Given the description of an element on the screen output the (x, y) to click on. 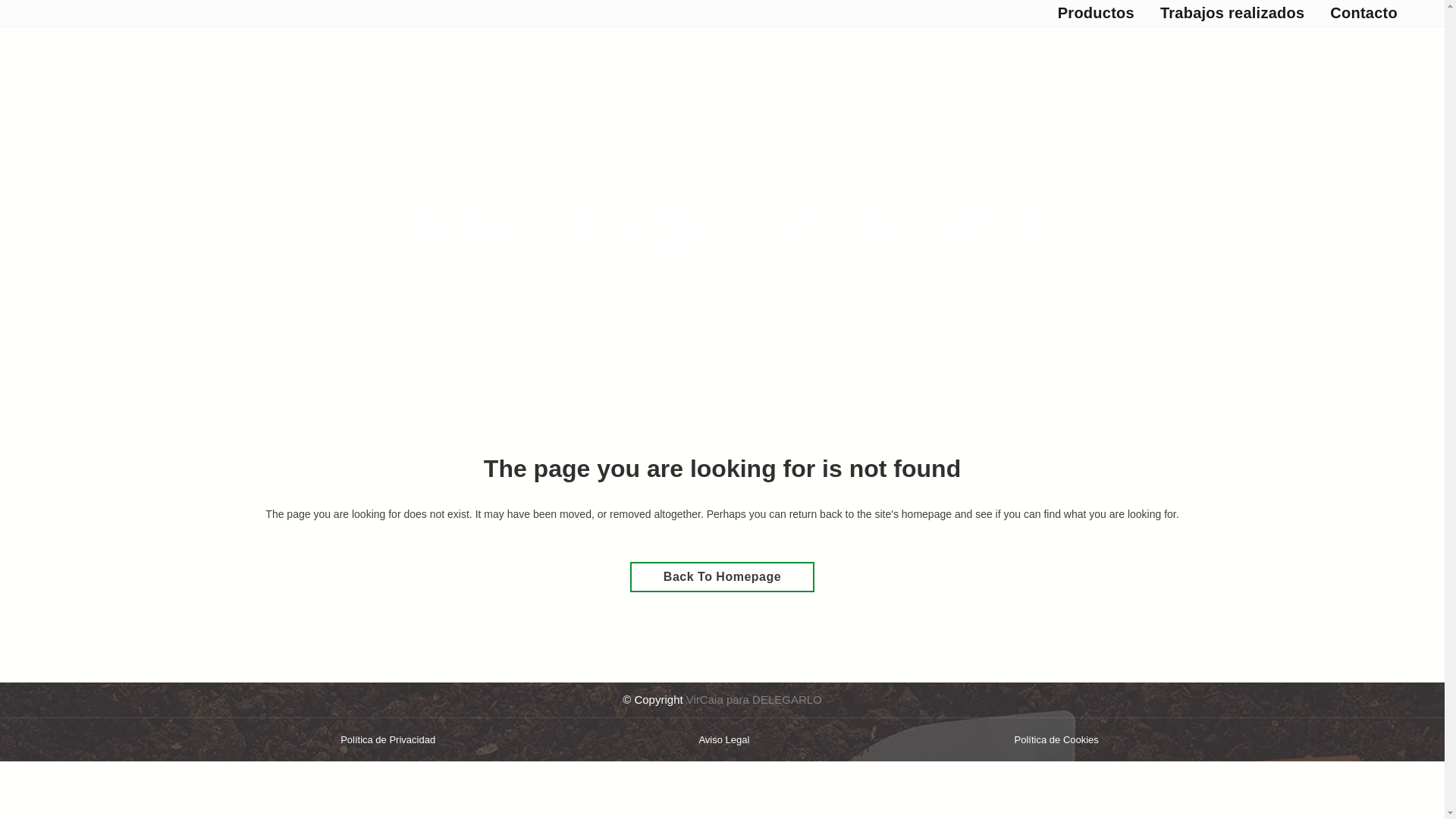
VirCaia para DELEGARLO (753, 698)
Trabajos realizados (1232, 13)
Contacto (1363, 13)
Aviso Legal (723, 739)
Back To Homepage (721, 576)
Productos (1096, 13)
